Given the description of an element on the screen output the (x, y) to click on. 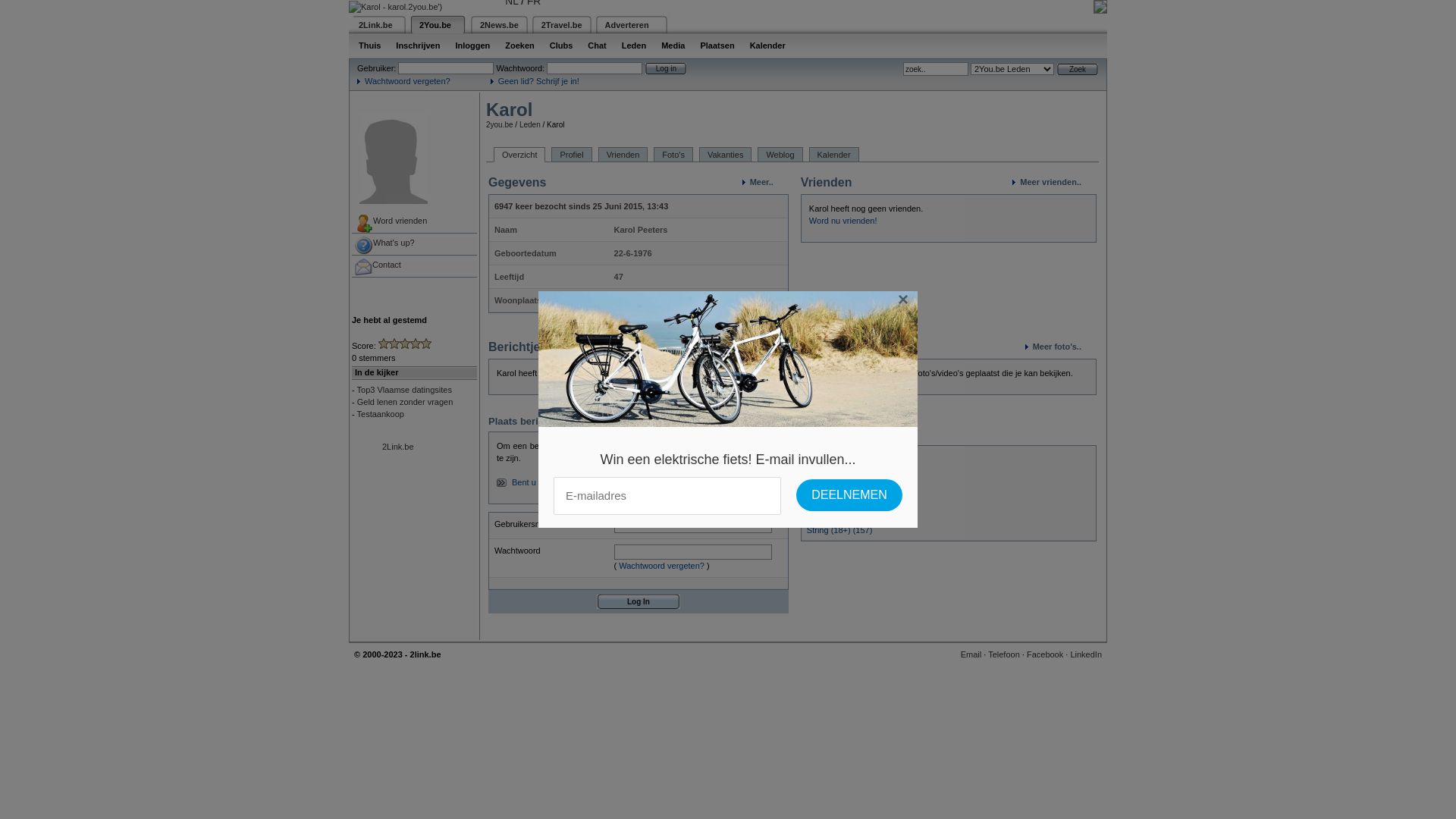
Kalender Element type: text (834, 154)
Leden Element type: text (529, 124)
Log in Element type: text (665, 68)
Profiel Element type: text (571, 154)
LinkedIn Element type: text (1085, 653)
2Link.be Element type: text (398, 446)
Testaankoop Element type: text (380, 413)
Word vrienden Element type: text (413, 222)
Weblog Element type: text (779, 154)
Bent u nog geen lid? Word lid! Element type: text (567, 481)
Adverteren Element type: text (627, 24)
Overzicht Element type: text (519, 154)
2you.be Element type: text (499, 124)
Zoek Element type: text (1077, 69)
String (18+) (157) Element type: text (839, 529)
Meer foto's.. Element type: text (1060, 346)
Media Element type: text (672, 45)
Foto's Element type: text (673, 154)
Meer vrienden.. Element type: text (1054, 181)
Email Element type: text (971, 653)
2Link.be Element type: text (375, 24)
Zoeken Element type: text (519, 45)
Top3 Vlaamse datingsites Element type: text (404, 389)
Facebook Element type: text (1044, 653)
Geen lid? Schrijf je in! Element type: text (534, 80)
Wachtwoord vergeten? Element type: text (403, 80)
Vrienden Element type: text (623, 154)
Meer.. Element type: text (765, 181)
Telefoon Element type: text (1003, 653)
2News.be Element type: text (499, 24)
Inloggen Element type: text (472, 45)
Word nu vrienden! Element type: text (843, 220)
Vakanties Element type: text (725, 154)
Inschrijven Element type: text (417, 45)
Plaatsen Element type: text (716, 45)
2You.be Element type: text (435, 24)
Clubs Element type: text (561, 45)
Leden Element type: text (633, 45)
Chat Element type: text (596, 45)
Wachtwoord vergeten? Element type: text (661, 565)
What's up? Element type: text (413, 244)
Contact Element type: text (413, 266)
Geld lenen zonder vragen Element type: text (405, 401)
Thuis Element type: text (369, 45)
Kalender Element type: text (767, 45)
2Travel.be Element type: text (561, 24)
Log In Element type: text (638, 601)
